Given the description of an element on the screen output the (x, y) to click on. 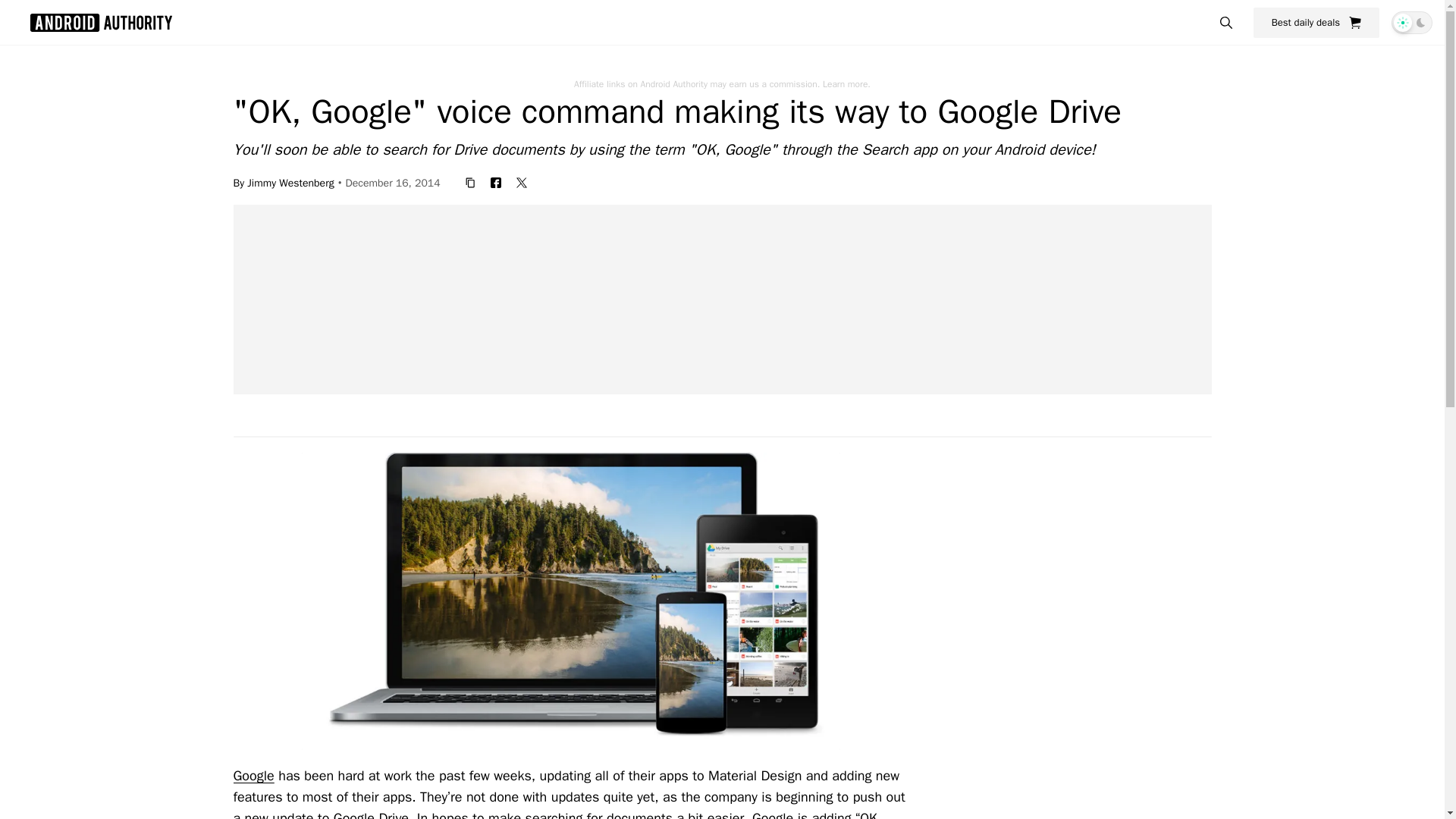
Google (253, 775)
Best daily deals (1315, 22)
Jimmy Westenberg (290, 182)
Learn more. (846, 83)
facebook (495, 182)
twitter (521, 182)
Google Drive (371, 814)
